Given the description of an element on the screen output the (x, y) to click on. 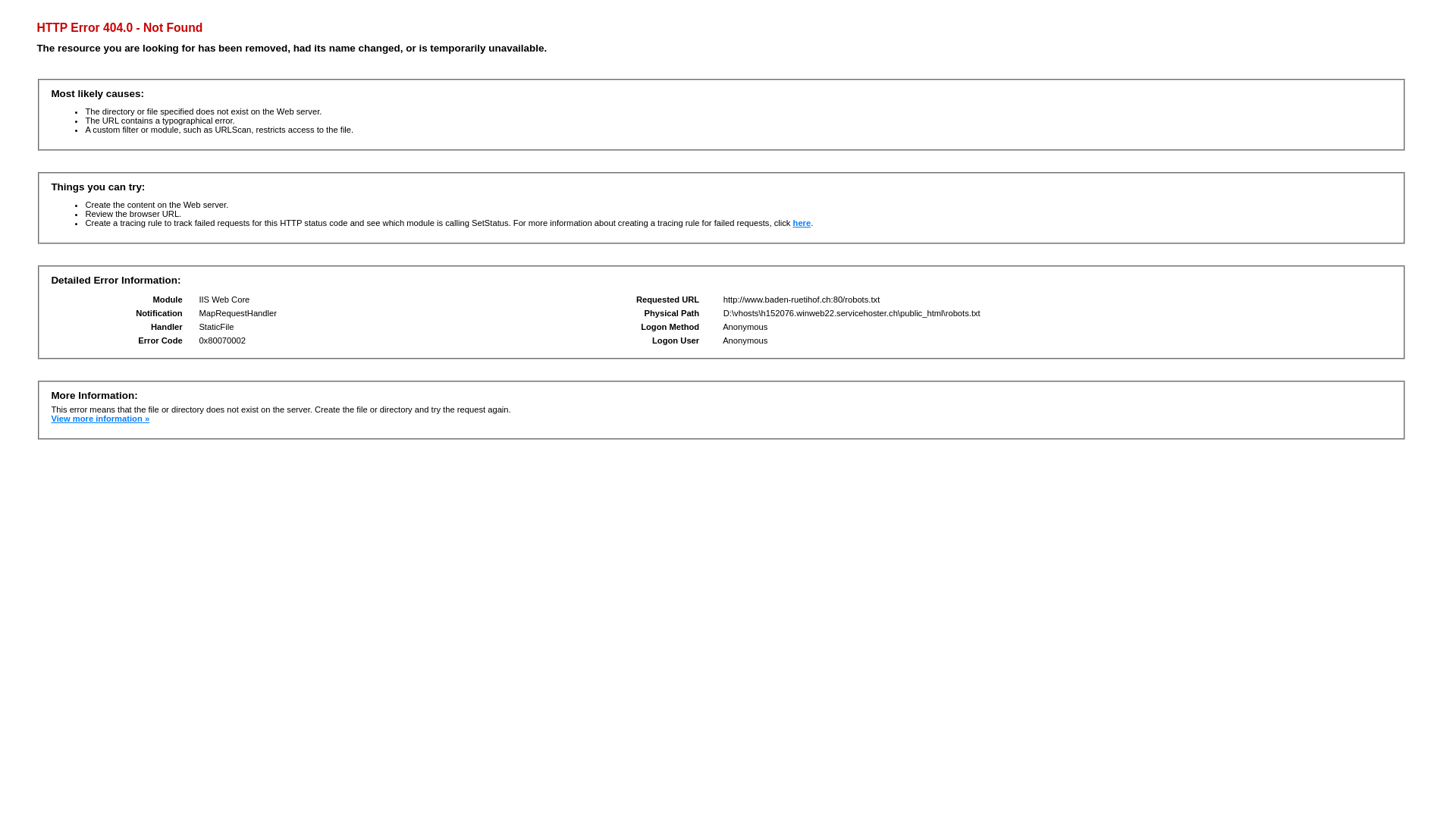
here Element type: text (802, 222)
